Given the description of an element on the screen output the (x, y) to click on. 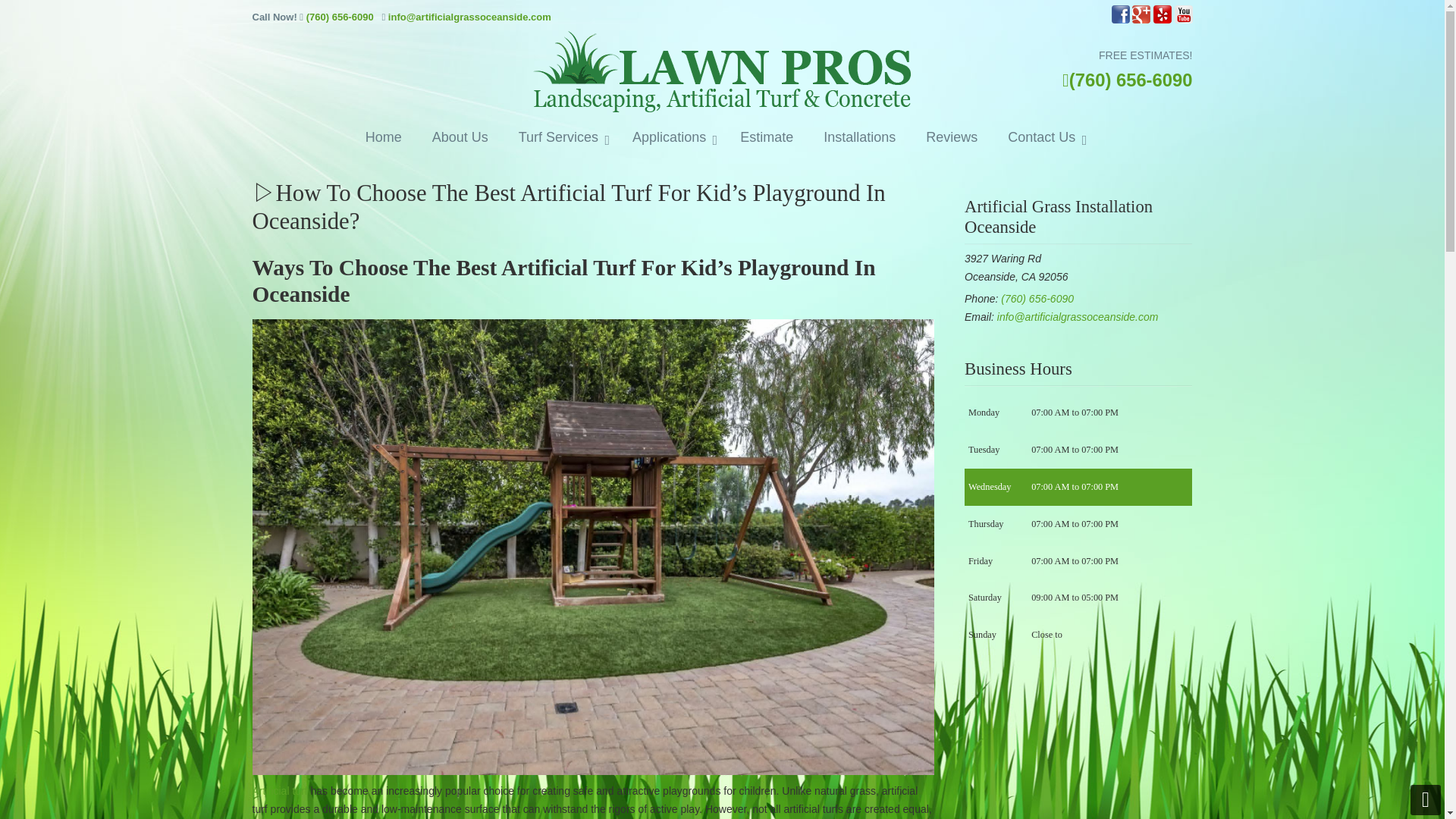
Contact Us (1043, 137)
Artificial turf (279, 790)
Turf Services (560, 137)
Applications (671, 137)
Yelp (1162, 19)
Estimate (766, 137)
Facebook (1120, 19)
Home (383, 137)
Phone (1037, 298)
